Given the description of an element on the screen output the (x, y) to click on. 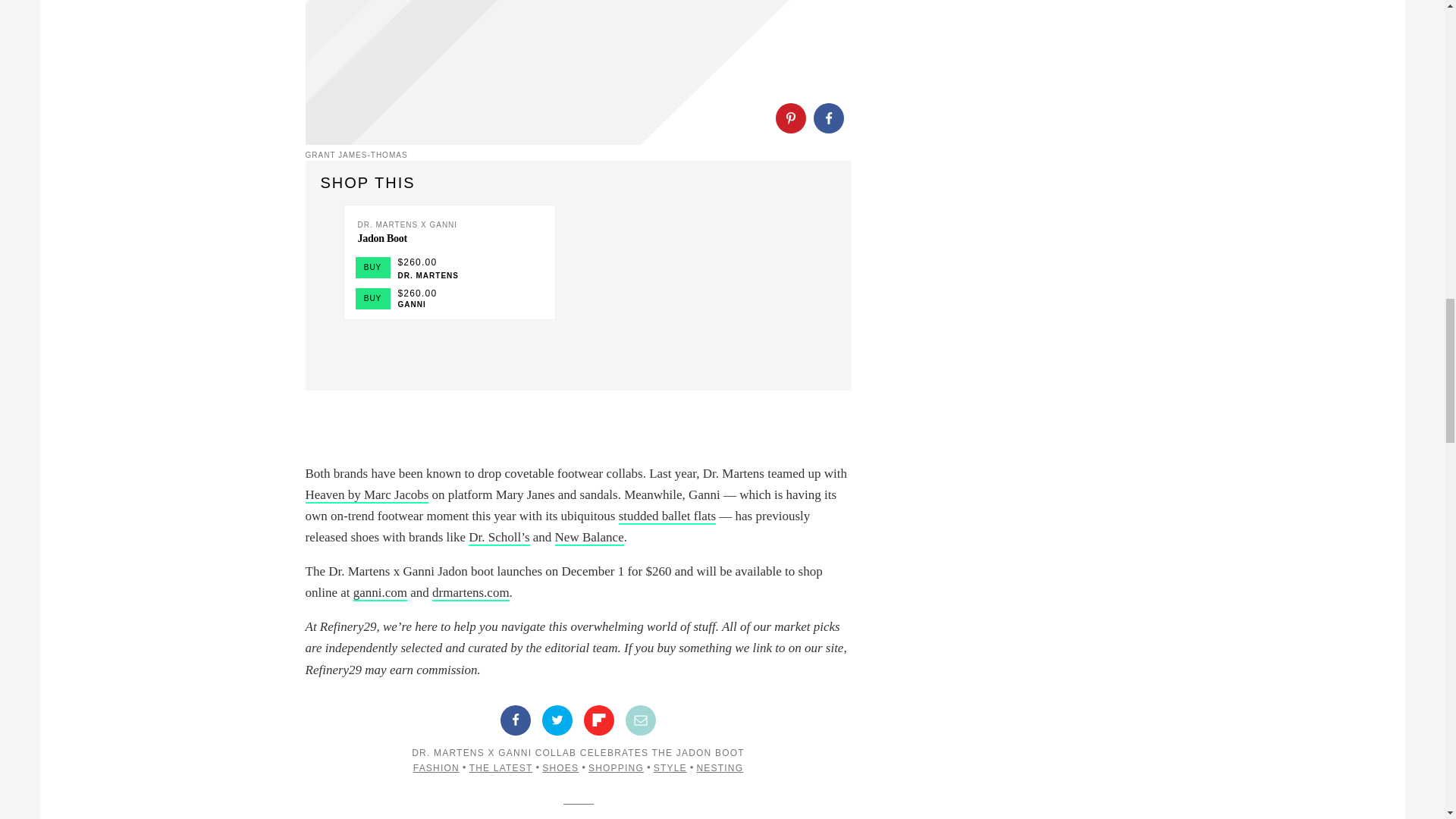
Share on Pinterest (789, 118)
Previous (327, 276)
Share on Flipboard (598, 720)
Share on Twitter (556, 720)
BUY (372, 267)
studded ballet flats (667, 516)
BUY (372, 298)
Heaven by Marc Jacobs (366, 495)
Share by Email (641, 720)
Next (357, 276)
